Given the description of an element on the screen output the (x, y) to click on. 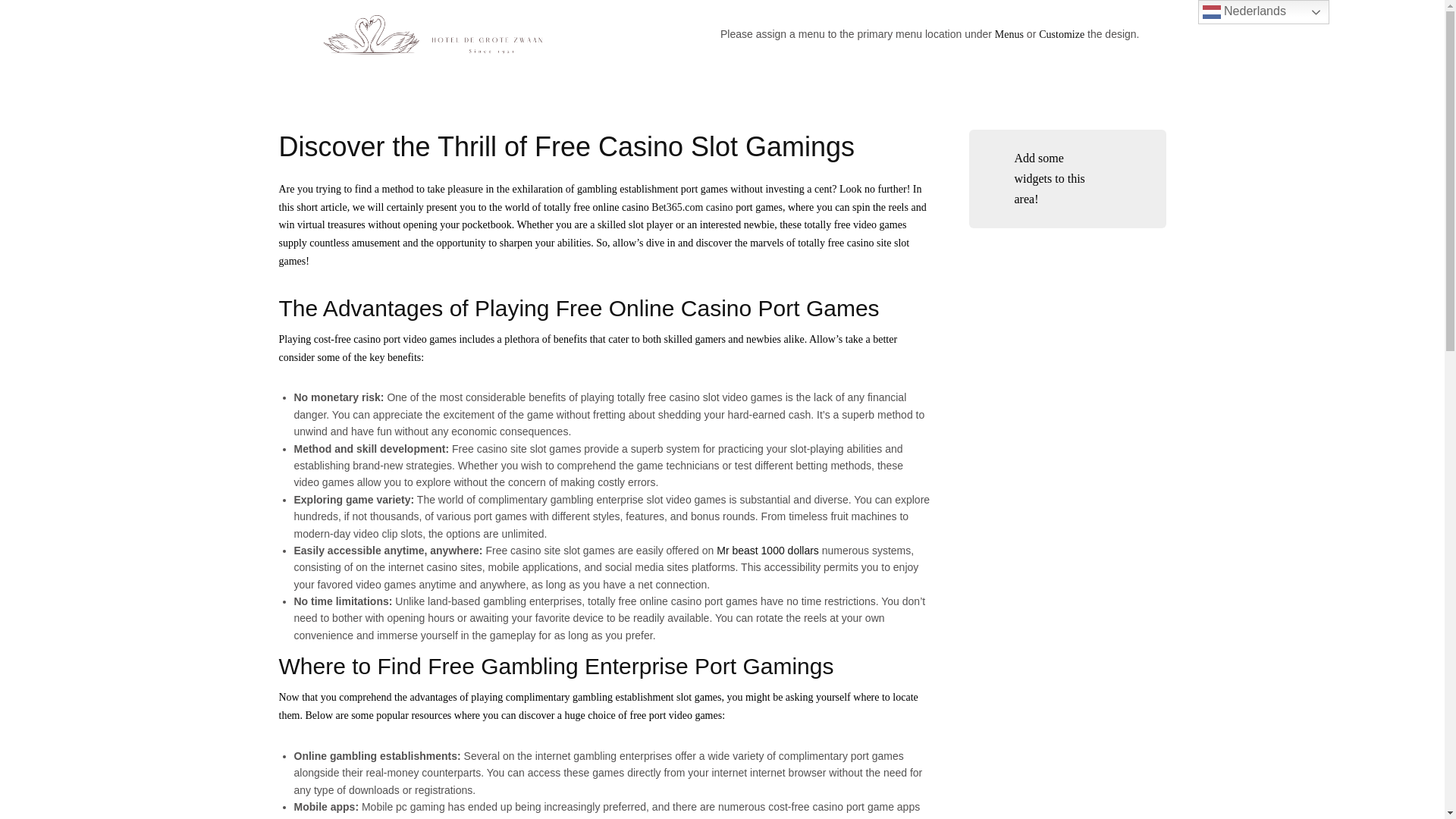
Hotel de Grote Zwaan (434, 33)
Mr beast 1000 dollars (767, 550)
Nederlands (1263, 12)
Customize (1061, 34)
Menus (1008, 34)
Bet365.com casino (691, 206)
